Given the description of an element on the screen output the (x, y) to click on. 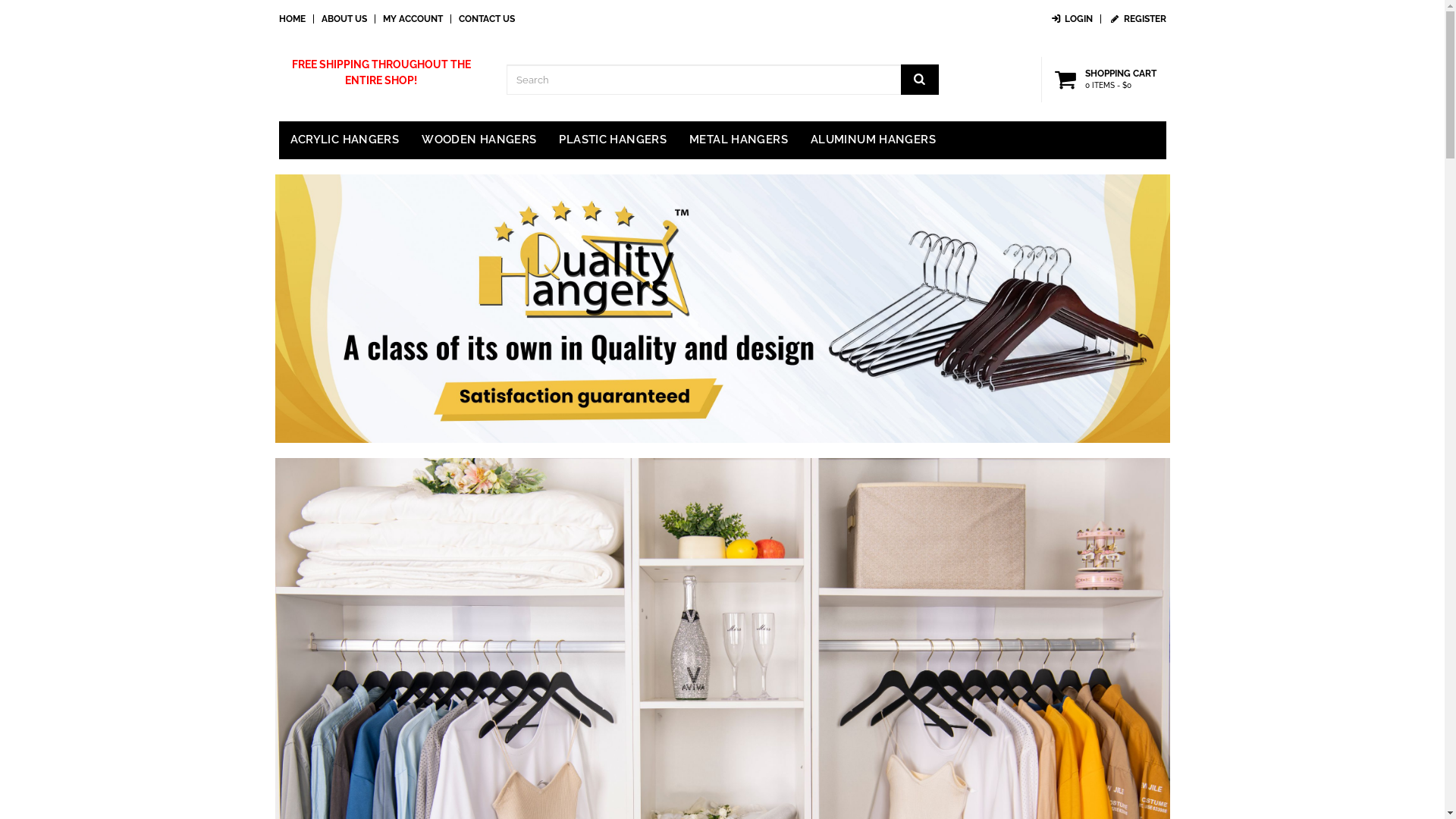
LOGIN Element type: text (1070, 18)
ACRYLIC HANGERS Element type: text (345, 140)
SHOPPING CART
0 ITEMS - $0 Element type: text (1107, 79)
CONTACT US Element type: text (486, 18)
METAL HANGERS Element type: text (738, 140)
HOME Element type: text (292, 18)
PLASTIC HANGERS Element type: text (612, 140)
WOODEN HANGERS Element type: text (478, 140)
ALUMINUM HANGERS Element type: text (873, 140)
REGISTER Element type: text (1137, 18)
MY ACCOUNT Element type: text (412, 18)
ABOUT US Element type: text (344, 18)
